Given the description of an element on the screen output the (x, y) to click on. 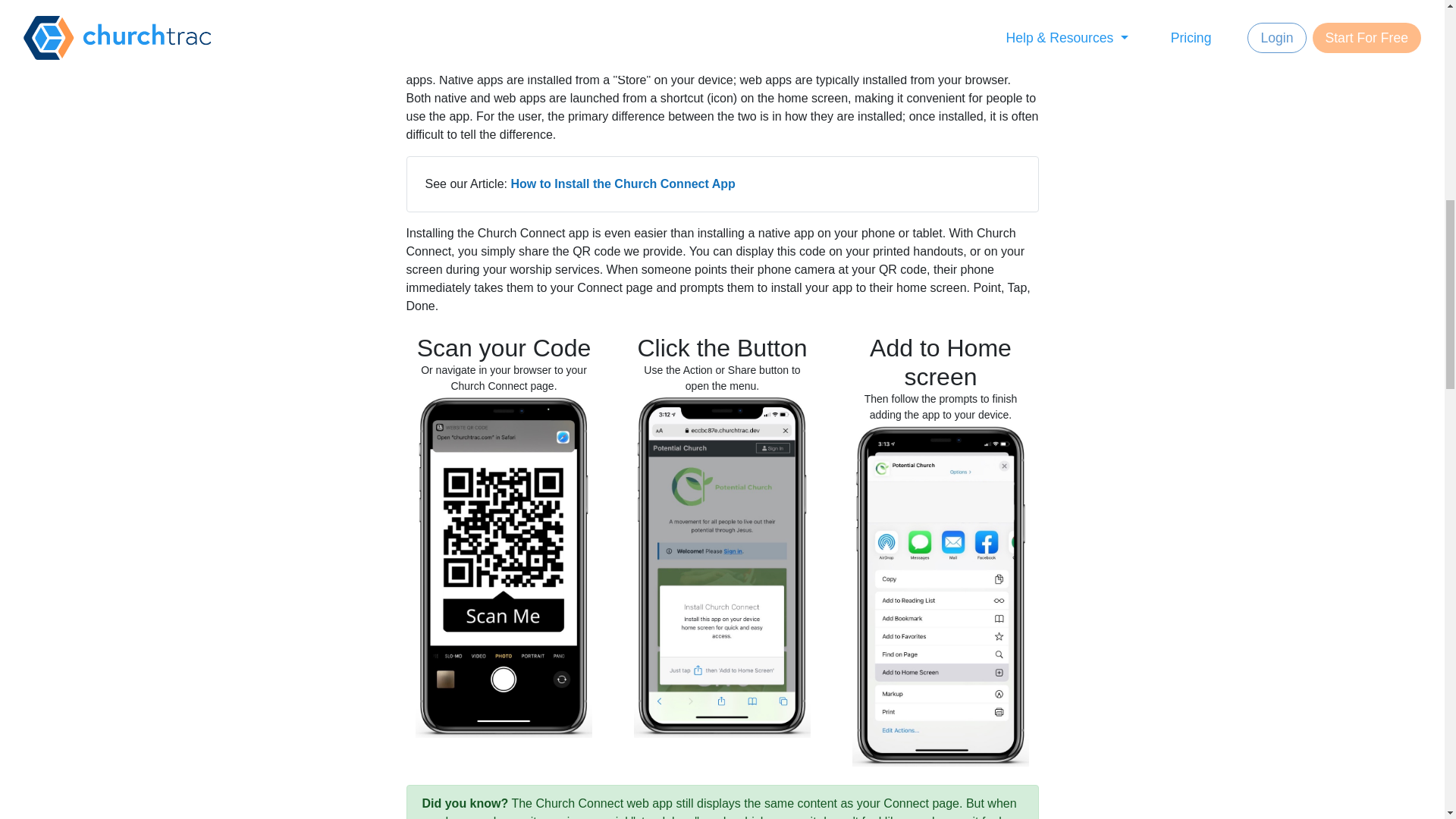
How to Install the Church Connect App (623, 183)
